Given the description of an element on the screen output the (x, y) to click on. 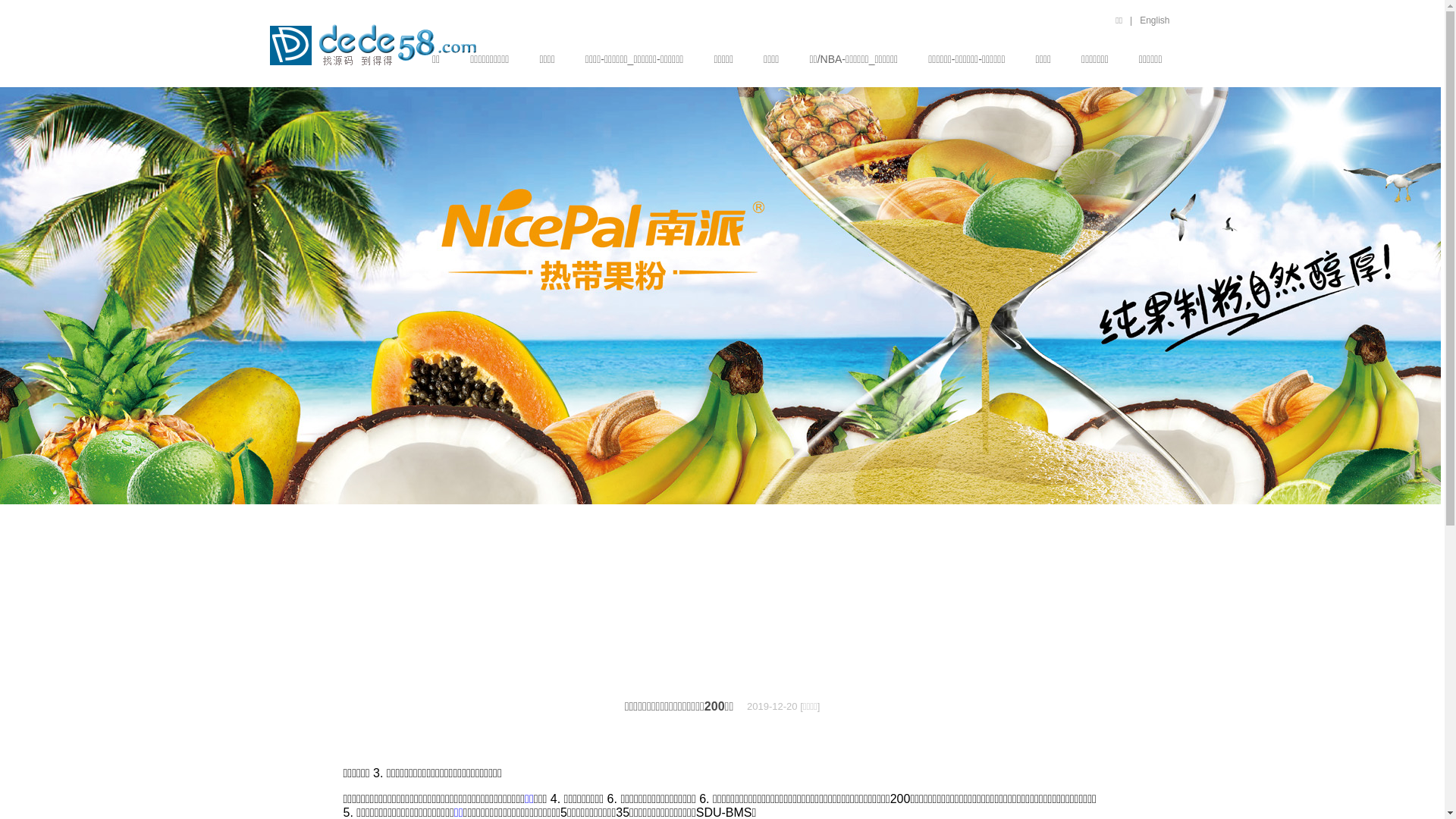
English Element type: text (1154, 20)
